Given the description of an element on the screen output the (x, y) to click on. 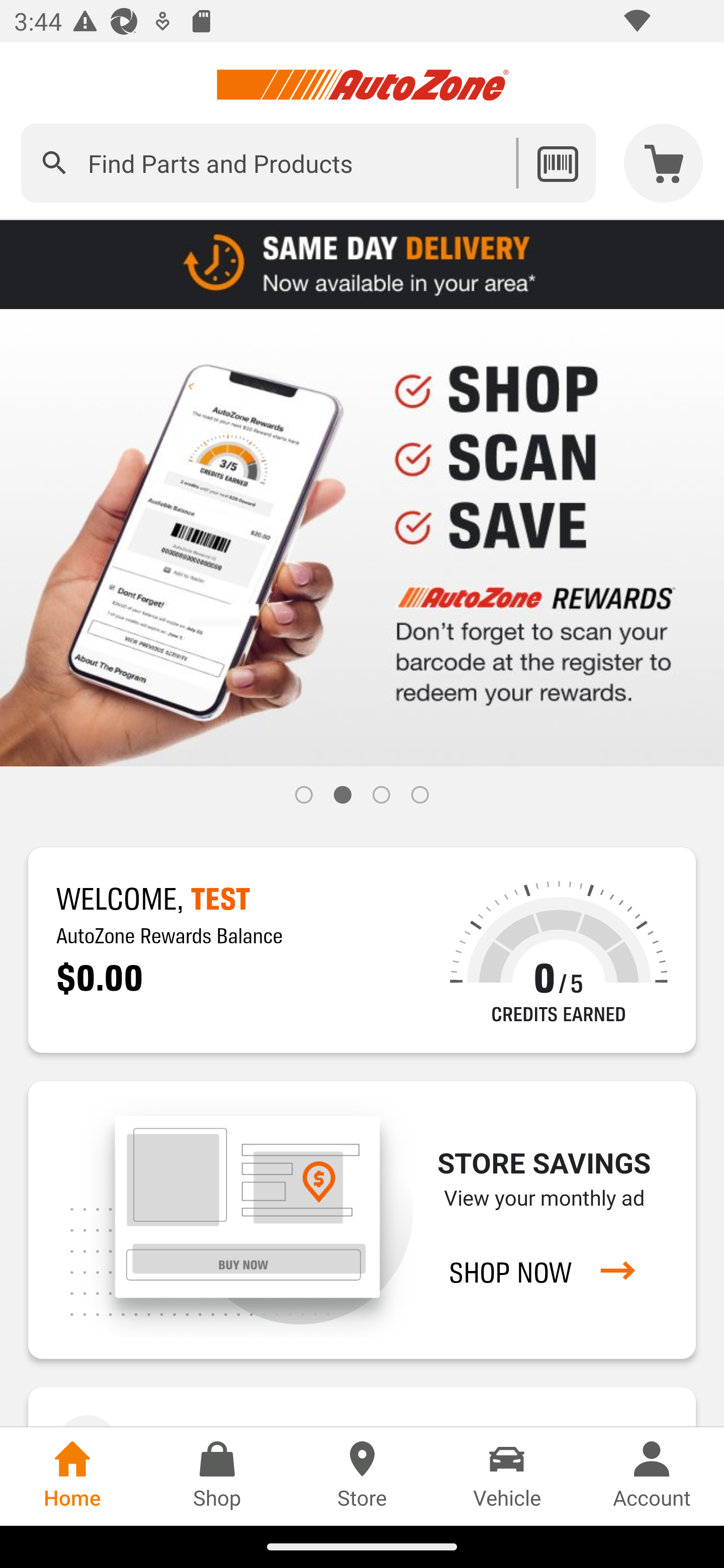
 scan-product-to-search  (557, 162)
 (54, 163)
Cart, no items  (663, 162)
Same Day Delivery - now available in your area* (362, 262)
Home (72, 1475)
Shop (216, 1475)
Store (361, 1475)
Vehicle (506, 1475)
Account (651, 1475)
